Given the description of an element on the screen output the (x, y) to click on. 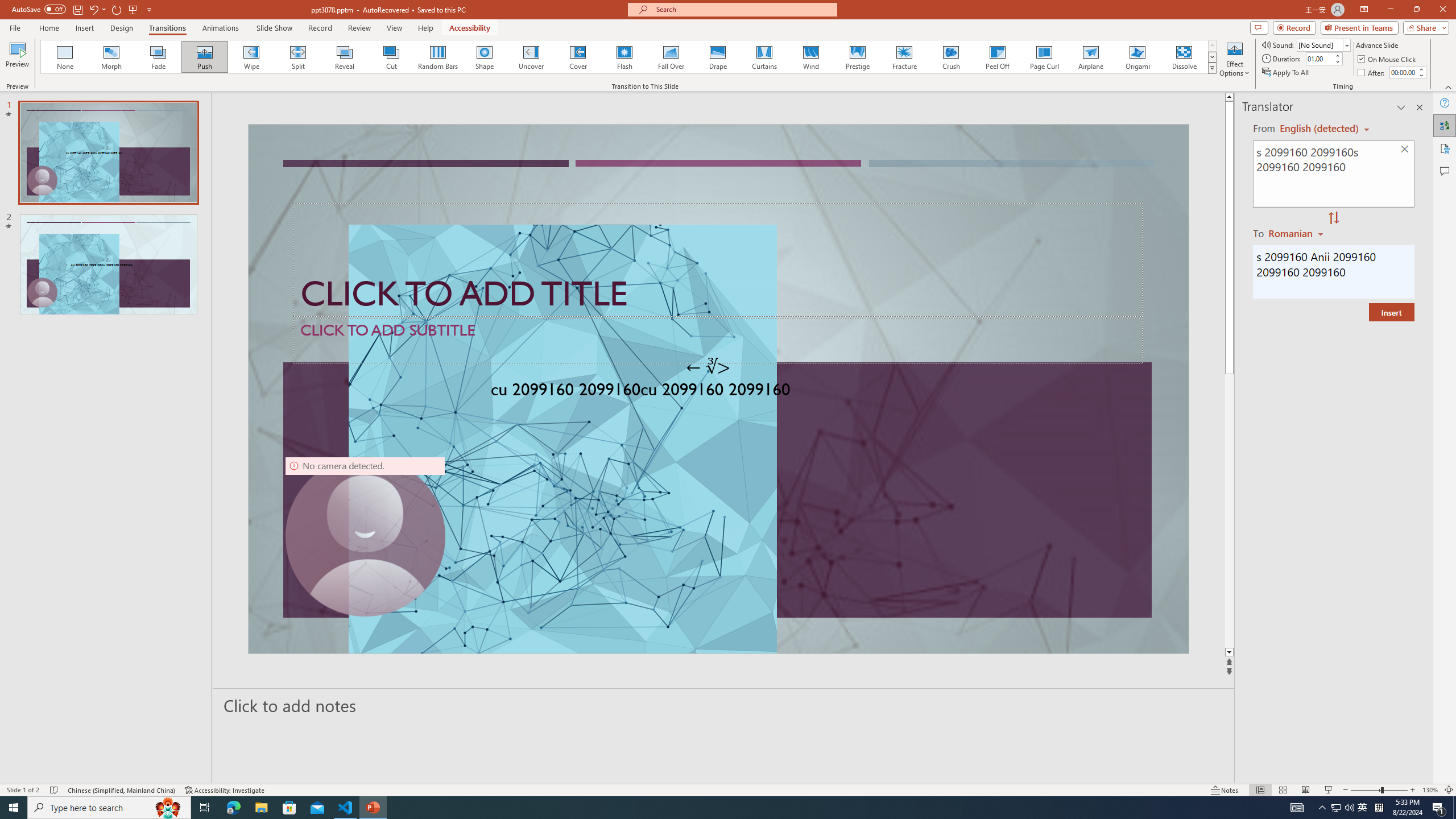
Split (298, 56)
Wipe (251, 56)
None (65, 56)
